Given the description of an element on the screen output the (x, y) to click on. 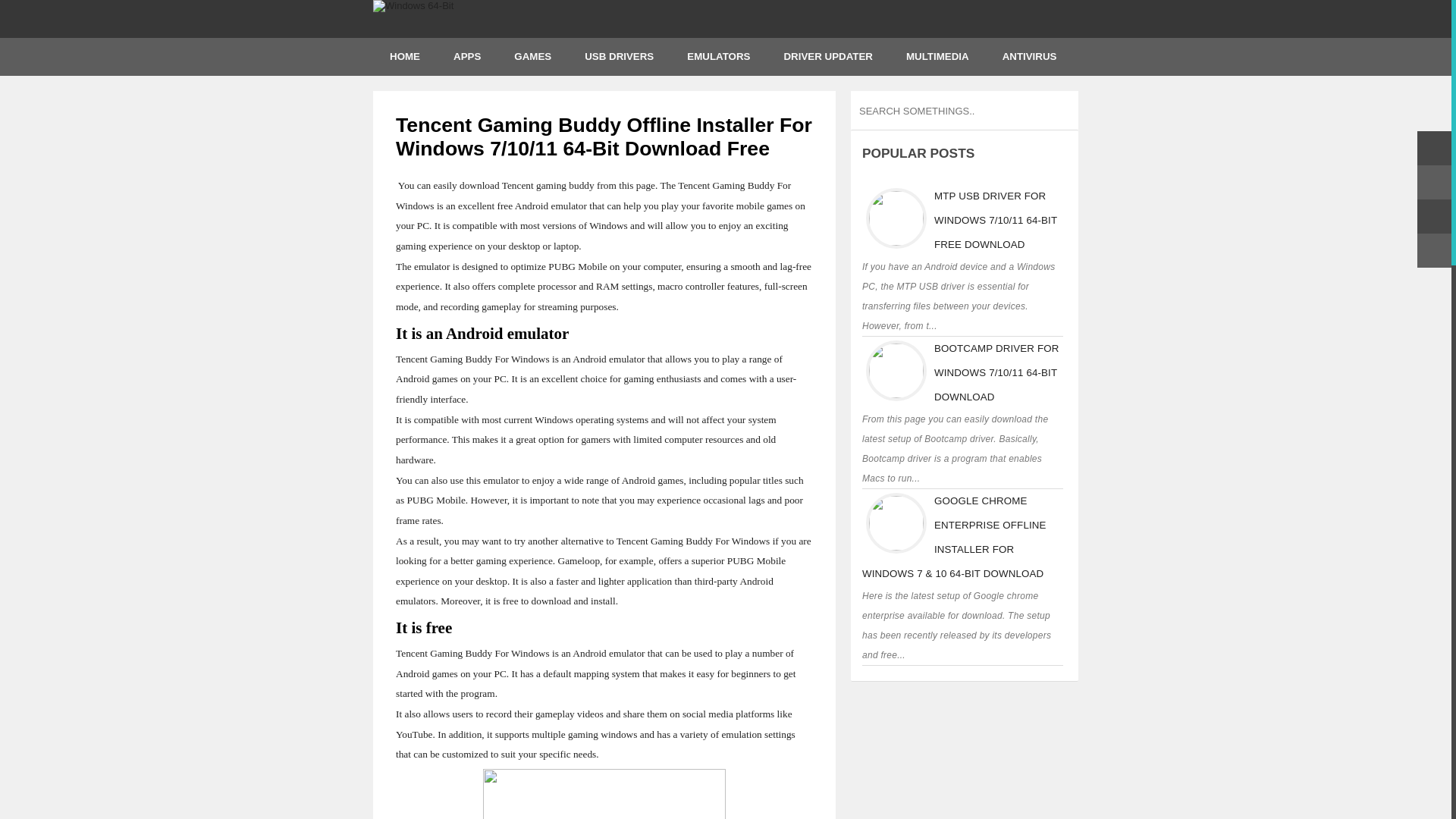
EMULATORS (718, 56)
GAMES (532, 56)
MULTIMEDIA (937, 56)
APPS (466, 56)
ANTIVIRUS (1029, 56)
USB DRIVERS (618, 56)
HOME (404, 56)
DRIVER UPDATER (828, 56)
